Given the description of an element on the screen output the (x, y) to click on. 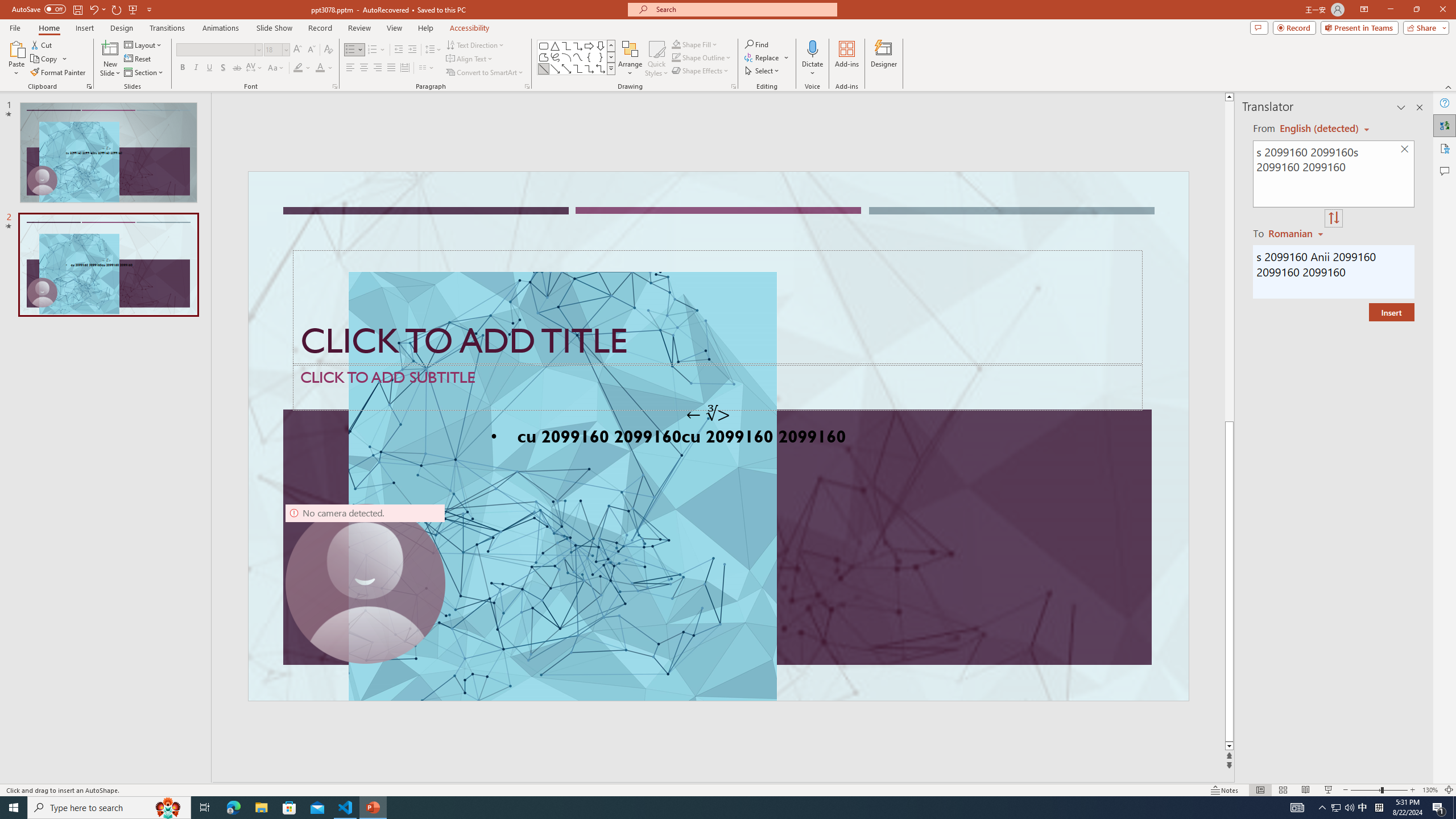
Czech (1296, 232)
Zoom 130% (1430, 790)
